Given the description of an element on the screen output the (x, y) to click on. 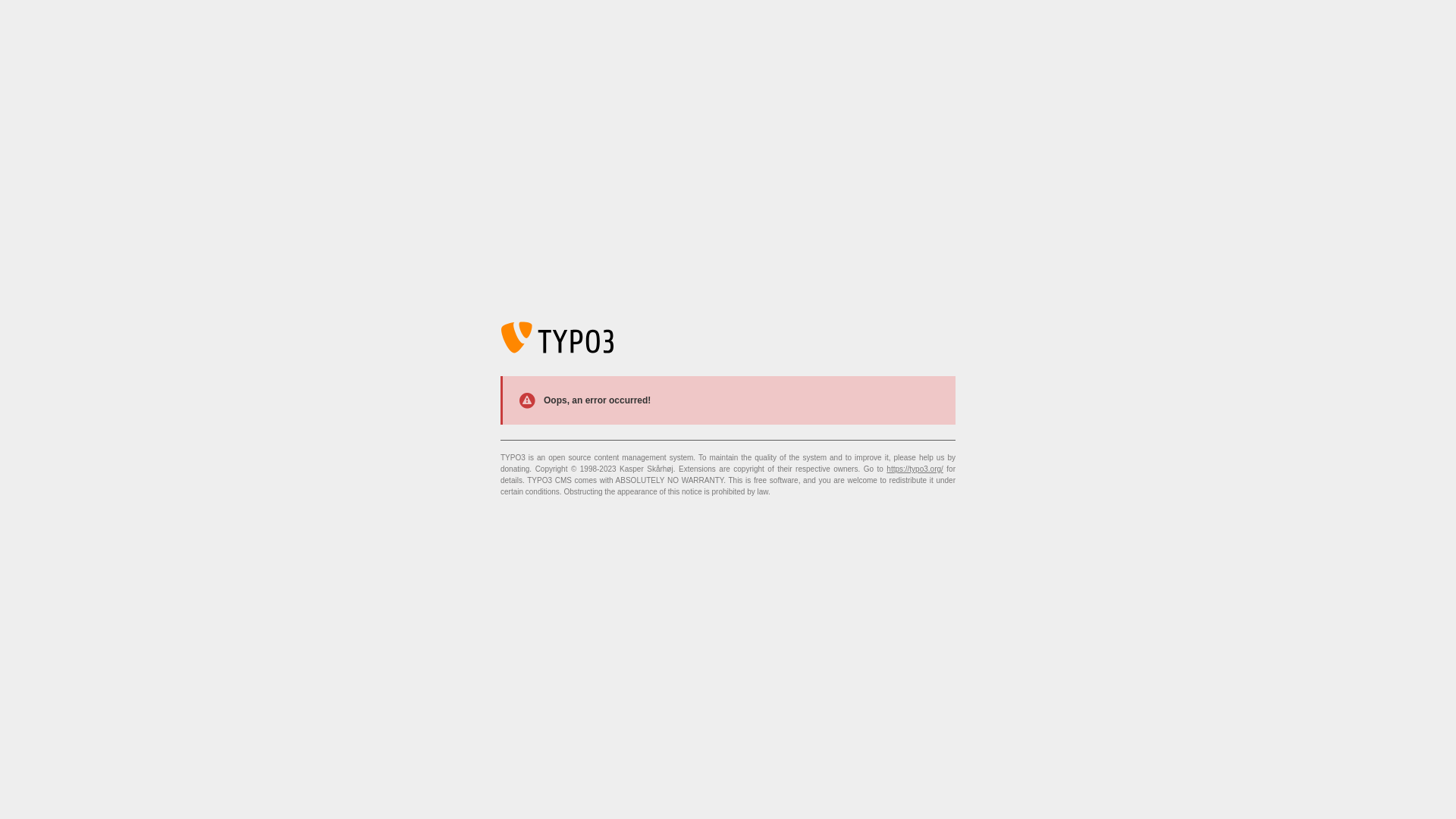
https://typo3.org/ Element type: text (914, 468)
